Given the description of an element on the screen output the (x, y) to click on. 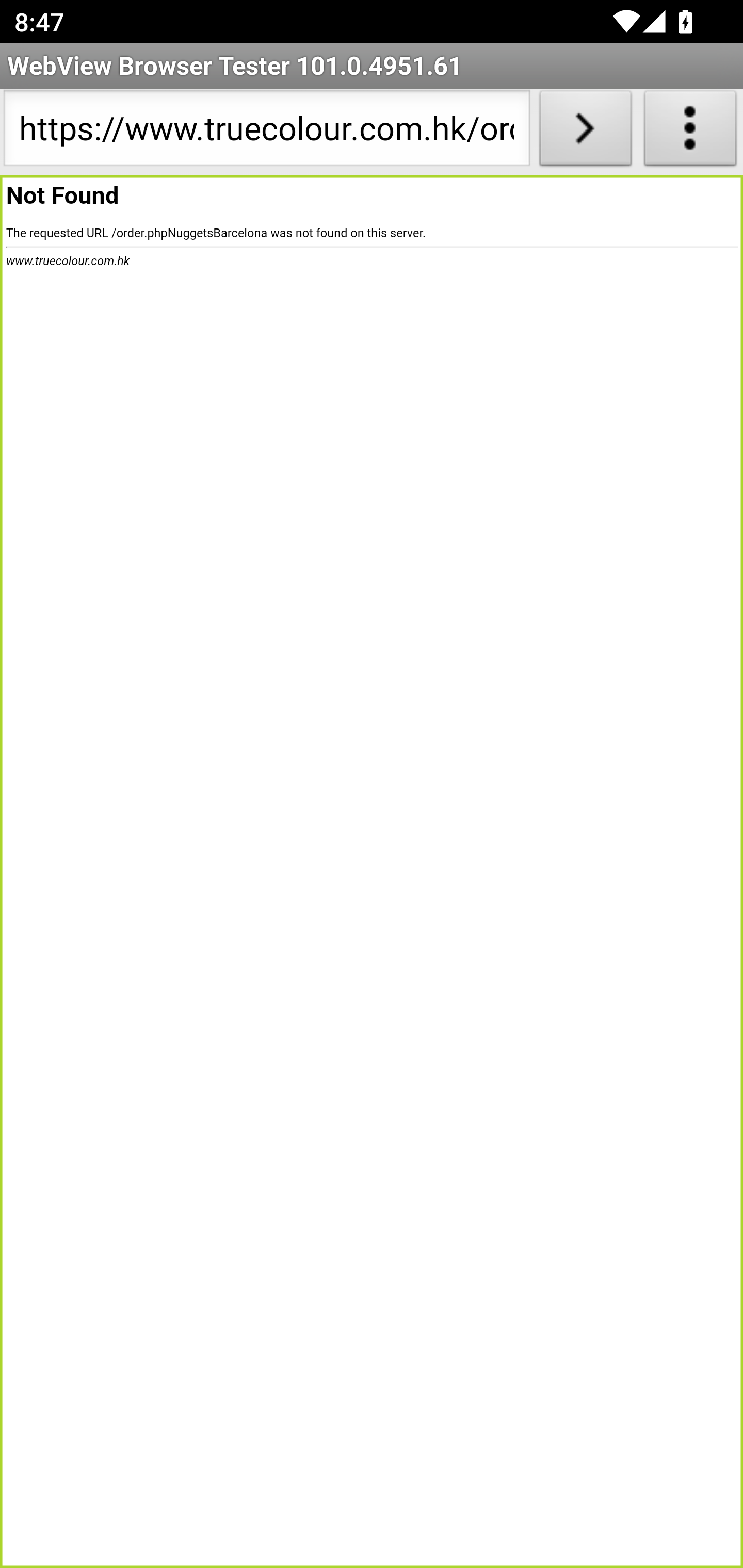
Load URL (585, 132)
About WebView (690, 132)
